Given the description of an element on the screen output the (x, y) to click on. 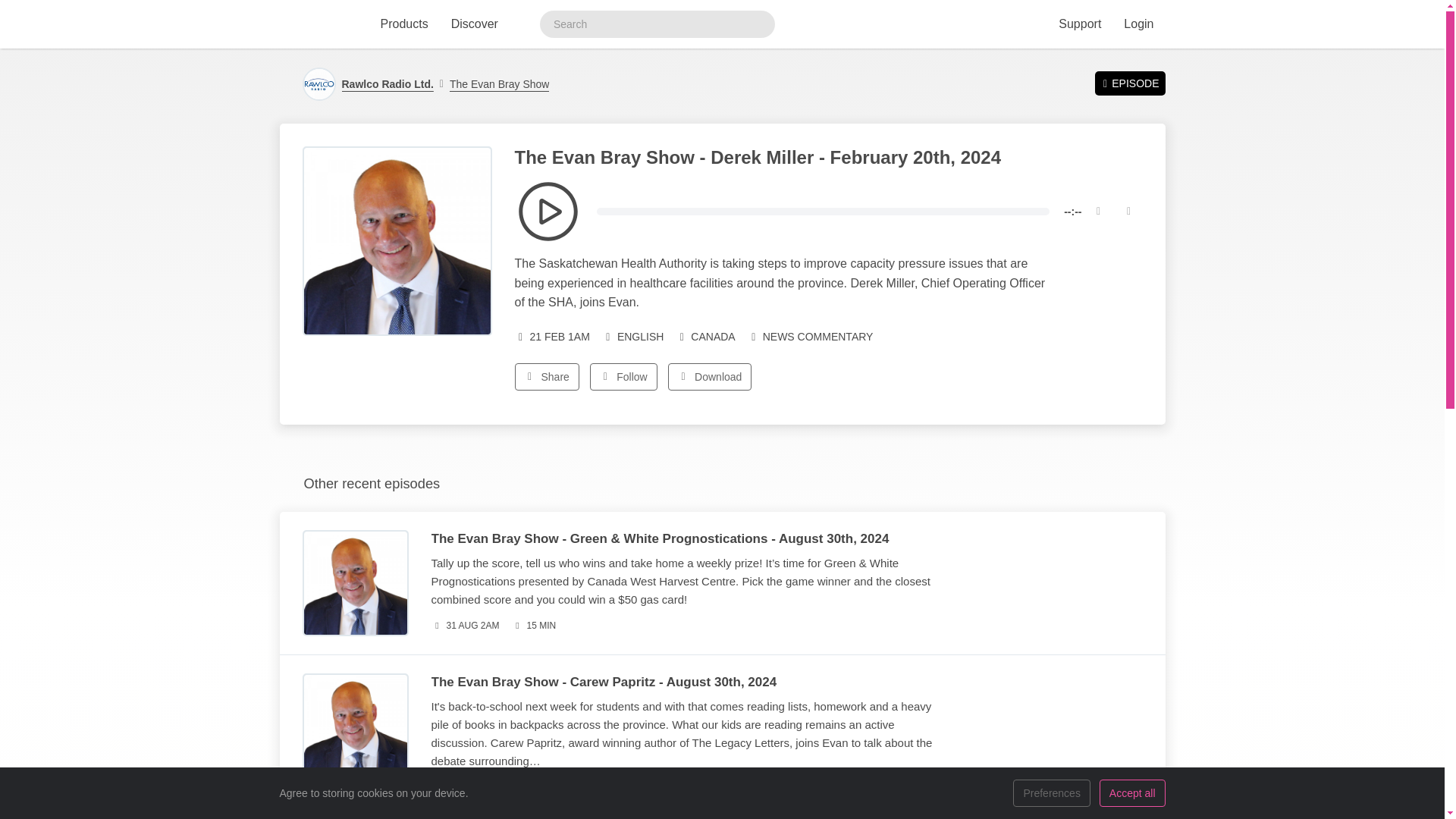
Rawlco Radio Ltd. (386, 83)
Support (1079, 24)
Published (464, 625)
Duration (534, 625)
Visit iono.fm homepage (316, 24)
Categories (810, 336)
Language (632, 336)
Toggle playback (547, 210)
Discover (474, 24)
Skip forward (1128, 211)
